Given the description of an element on the screen output the (x, y) to click on. 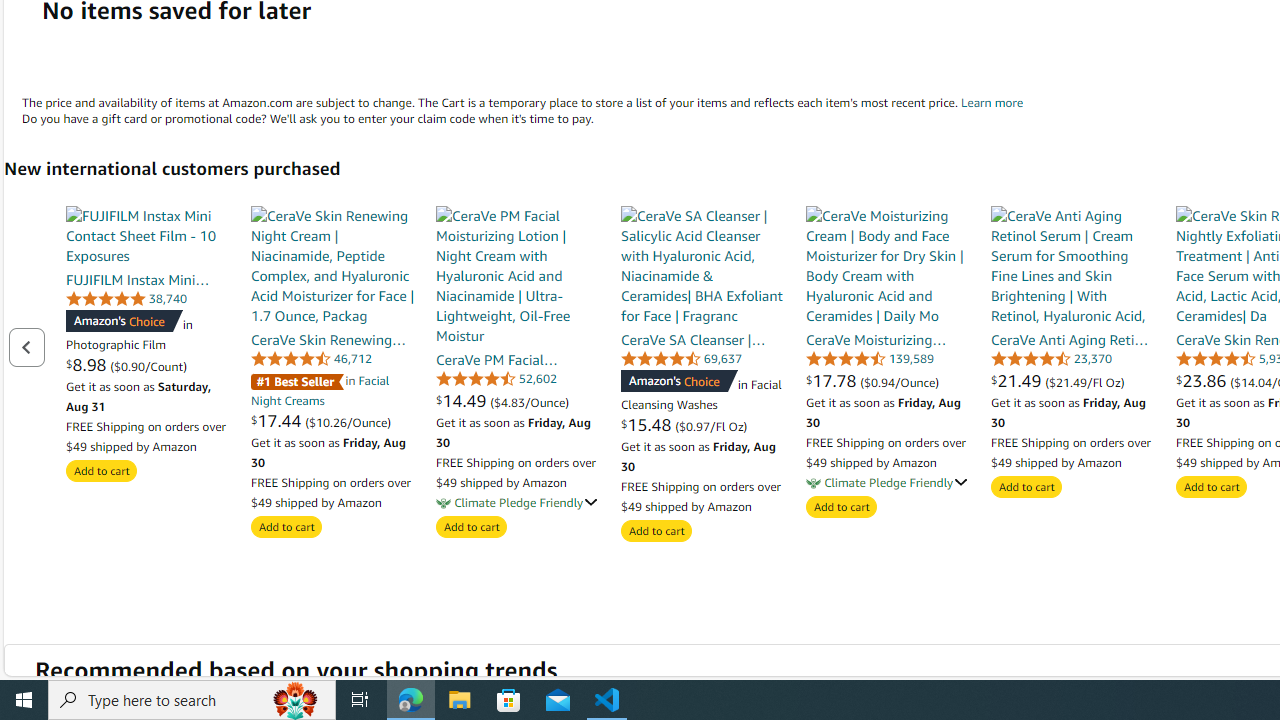
($0.90/Count) (148, 365)
$17.78  (833, 379)
($4.83/Ounce) (529, 401)
($0.97/Fl Oz) (710, 425)
Class: a-link-normal (1072, 339)
$8.98  (88, 363)
($0.94/Ounce) (899, 381)
$15.48  (647, 424)
FUJIFILM Instax Mini Contact Sheet Film - 10 Exposures (148, 235)
